Given the description of an element on the screen output the (x, y) to click on. 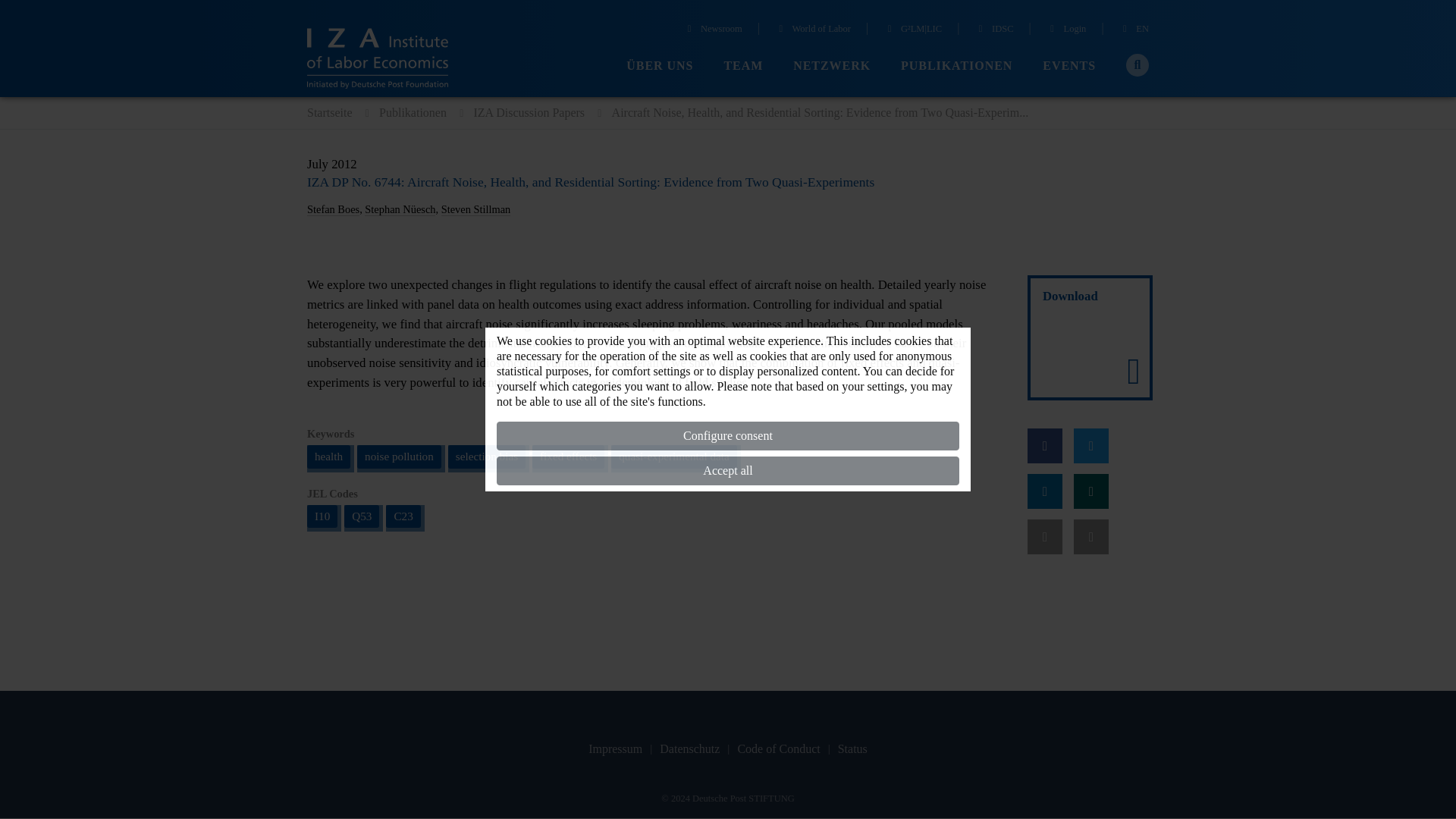
EVENTS (1069, 66)
Newsroom (712, 30)
TEAM (742, 66)
EN (1133, 30)
PUBLIKATIONEN (956, 66)
World of Labor (812, 30)
Login (1066, 30)
IDSC (993, 30)
NETZWERK (831, 66)
